Given the description of an element on the screen output the (x, y) to click on. 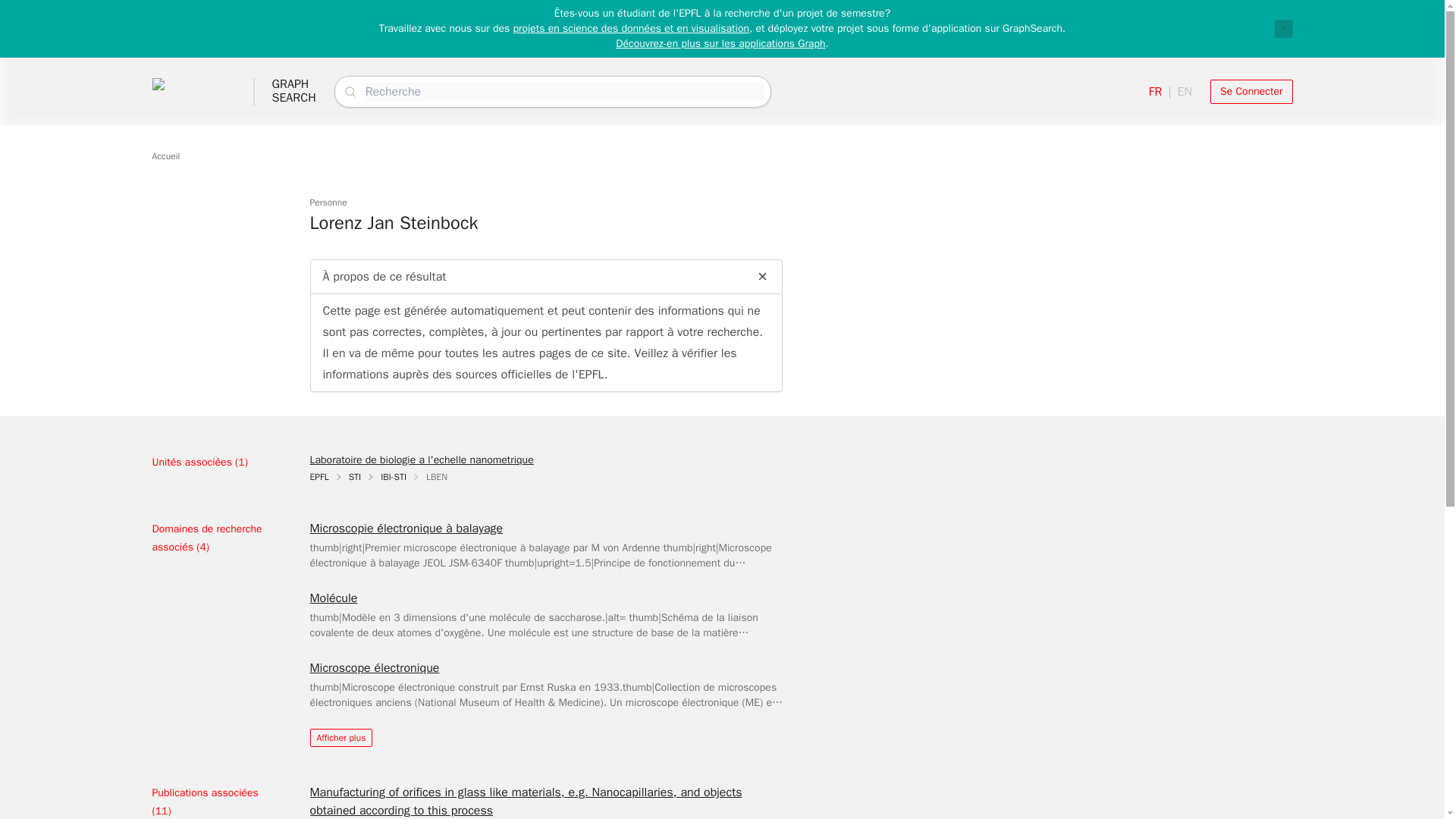
Afficher plus (340, 737)
IBI-STI (393, 476)
Close notification (1283, 28)
Laboratoire de biologie a l'echelle nanometrique (420, 459)
Accueil (165, 155)
EPFL (318, 476)
STI (355, 476)
Se Connecter (292, 90)
